Given the description of an element on the screen output the (x, y) to click on. 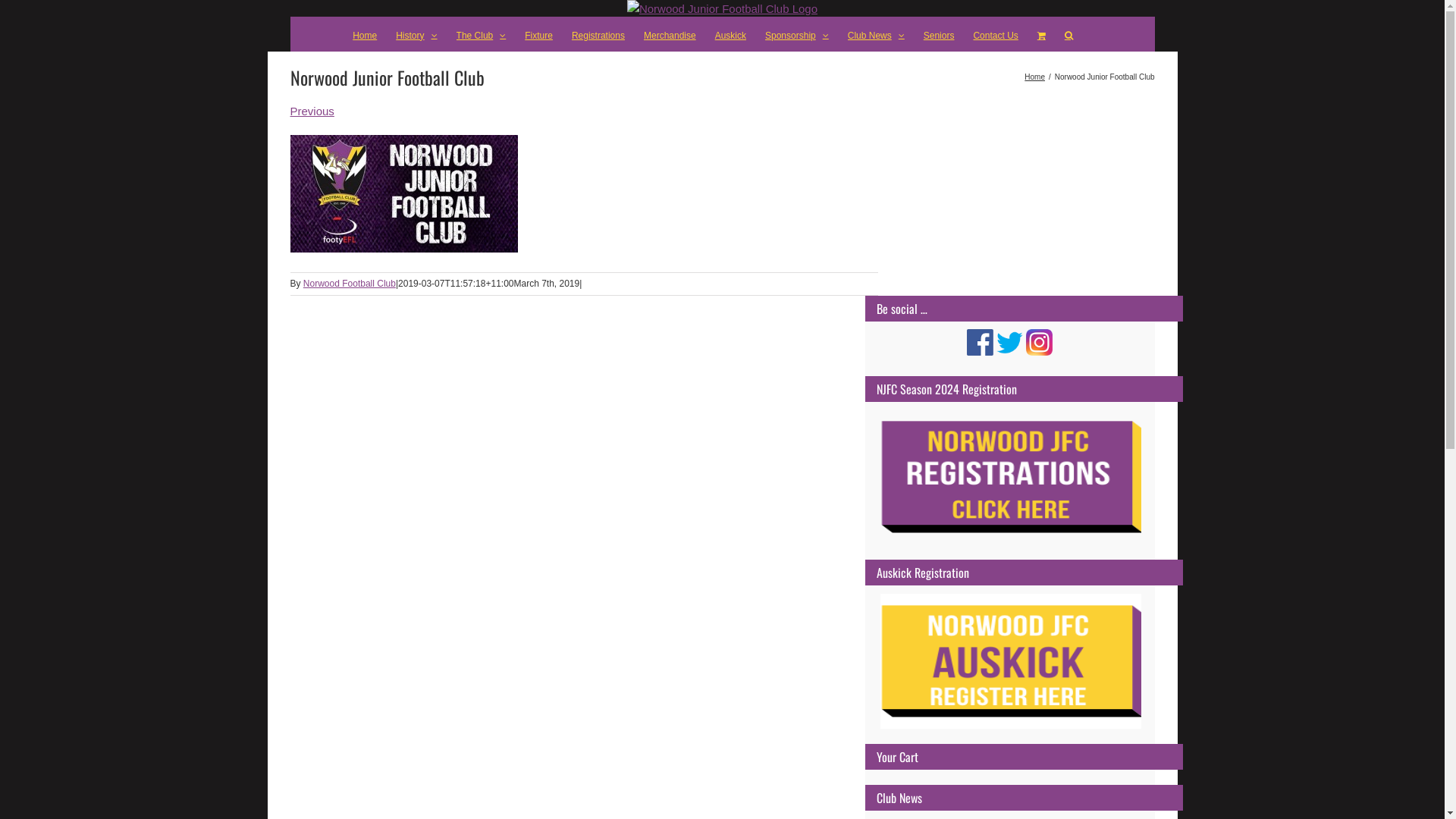
Norwood Football Club Element type: text (349, 283)
Home Element type: text (1034, 76)
Search Element type: hover (1068, 33)
Merchandise Element type: text (669, 33)
Auskick Element type: text (730, 33)
History Element type: text (415, 33)
Home Element type: text (364, 33)
Registrations Element type: text (597, 33)
Contact Us Element type: text (994, 33)
Seniors Element type: text (938, 33)
Fixture Element type: text (538, 33)
Club News Element type: text (875, 33)
The Club Element type: text (481, 33)
Sponsorship Element type: text (796, 33)
Previous Element type: text (311, 110)
